Given the description of an element on the screen output the (x, y) to click on. 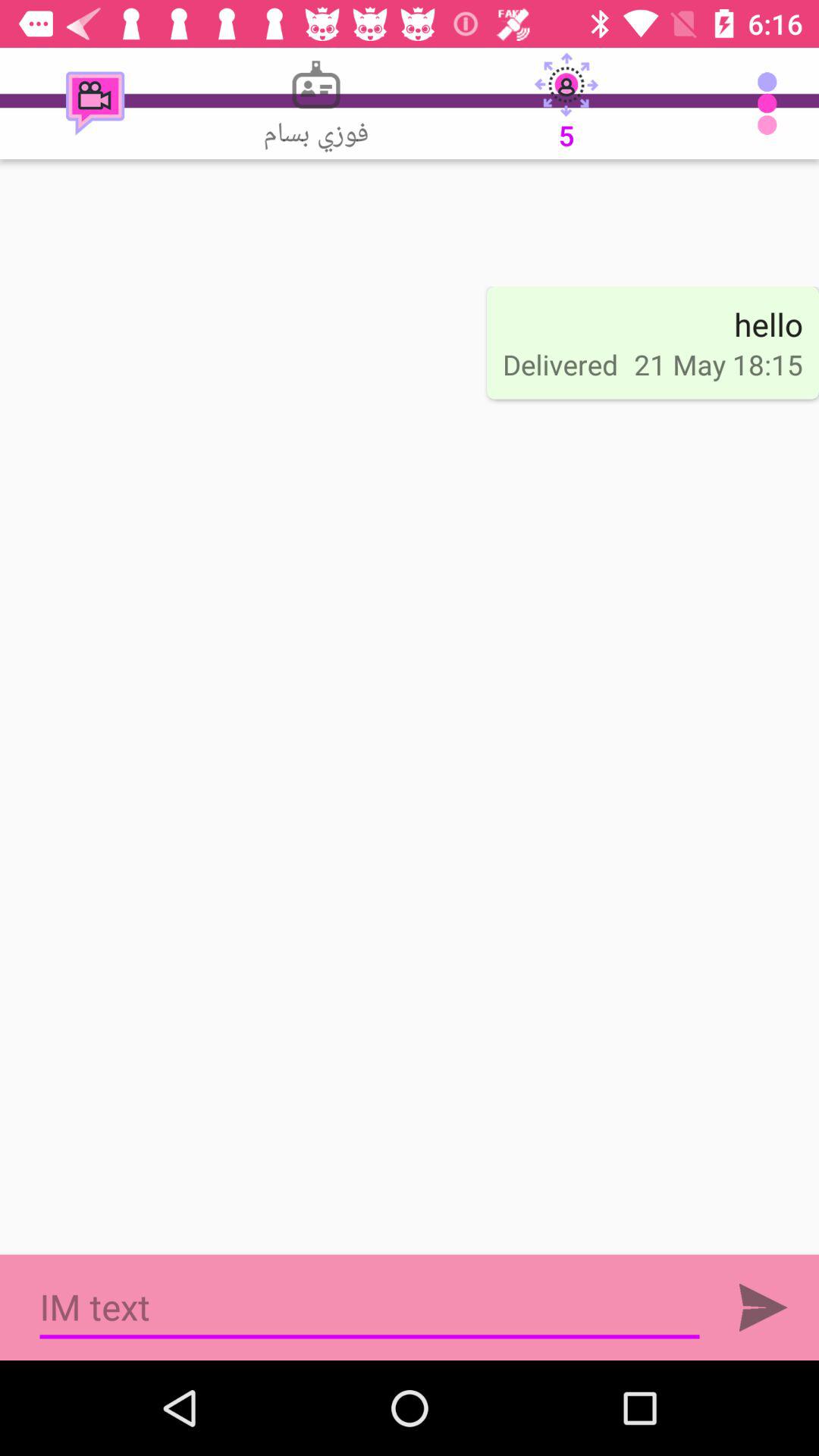
select icon above the 21 may 18 (768, 323)
